Given the description of an element on the screen output the (x, y) to click on. 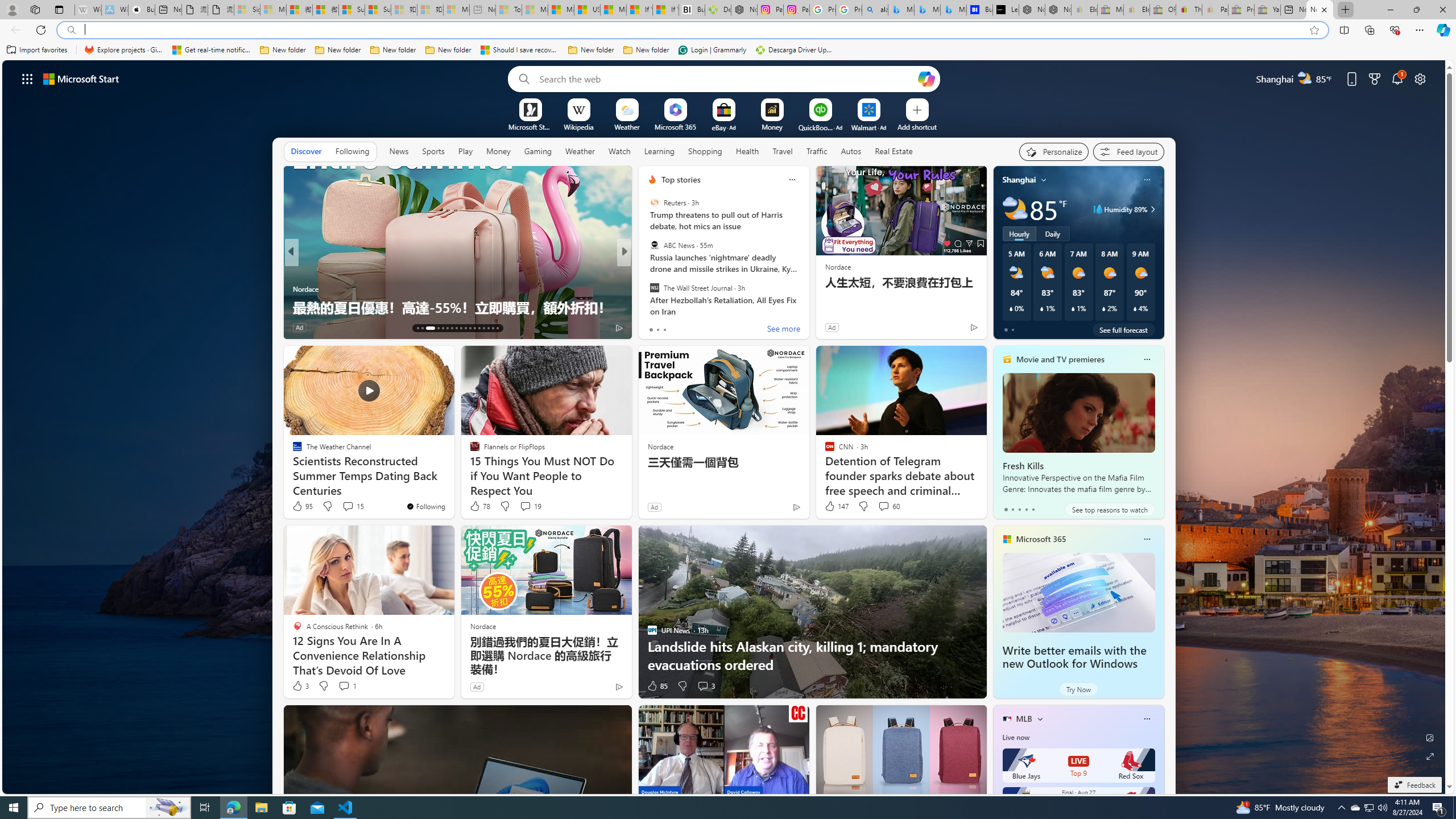
Business Insider (647, 270)
tab-1 (1012, 509)
AutomationID: tab-29 (497, 328)
Inspiring Savings (647, 270)
18 Like (652, 327)
Travel (782, 151)
View comments 15 Comment (347, 505)
Sports (432, 151)
A Conscious Rethink (647, 270)
Kinda Frugal (647, 270)
View comments 147 Comment (352, 327)
